Given the description of an element on the screen output the (x, y) to click on. 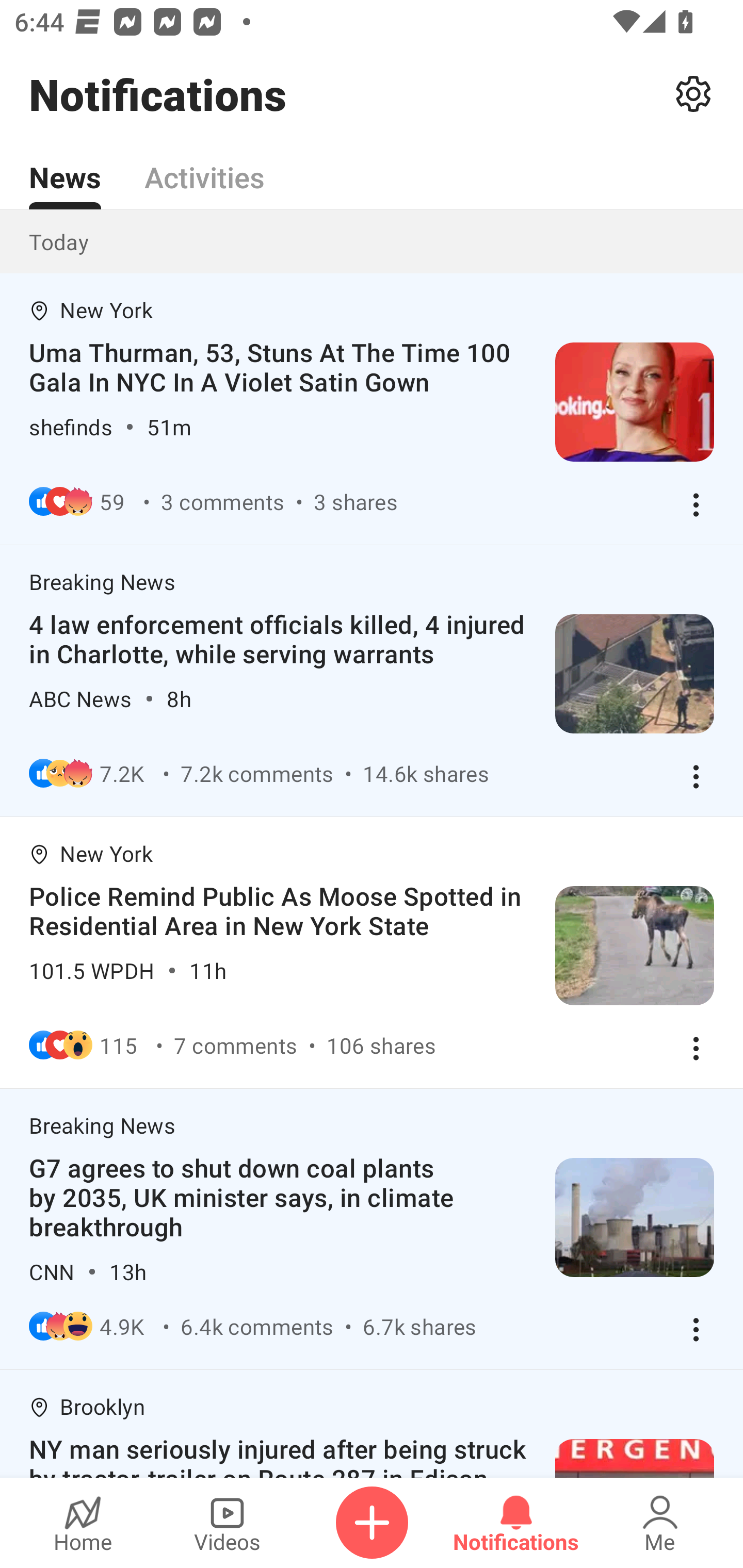
Activities (204, 166)
Home (83, 1522)
Videos (227, 1522)
Me (659, 1522)
